Given the description of an element on the screen output the (x, y) to click on. 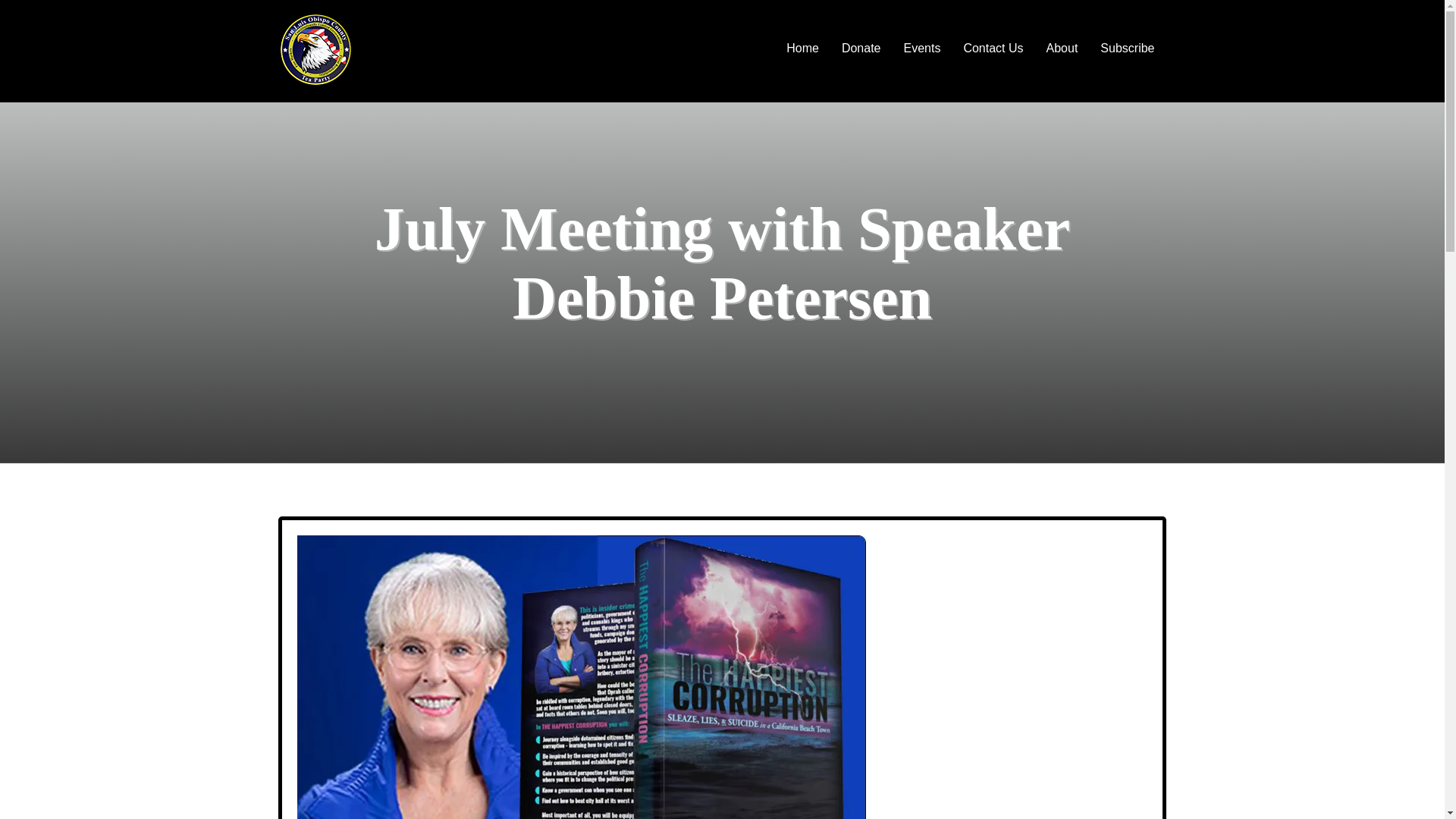
Events (927, 47)
About (1067, 47)
Donate (866, 47)
Subscribe (1133, 47)
Home (807, 47)
Contact Us (997, 47)
